Given the description of an element on the screen output the (x, y) to click on. 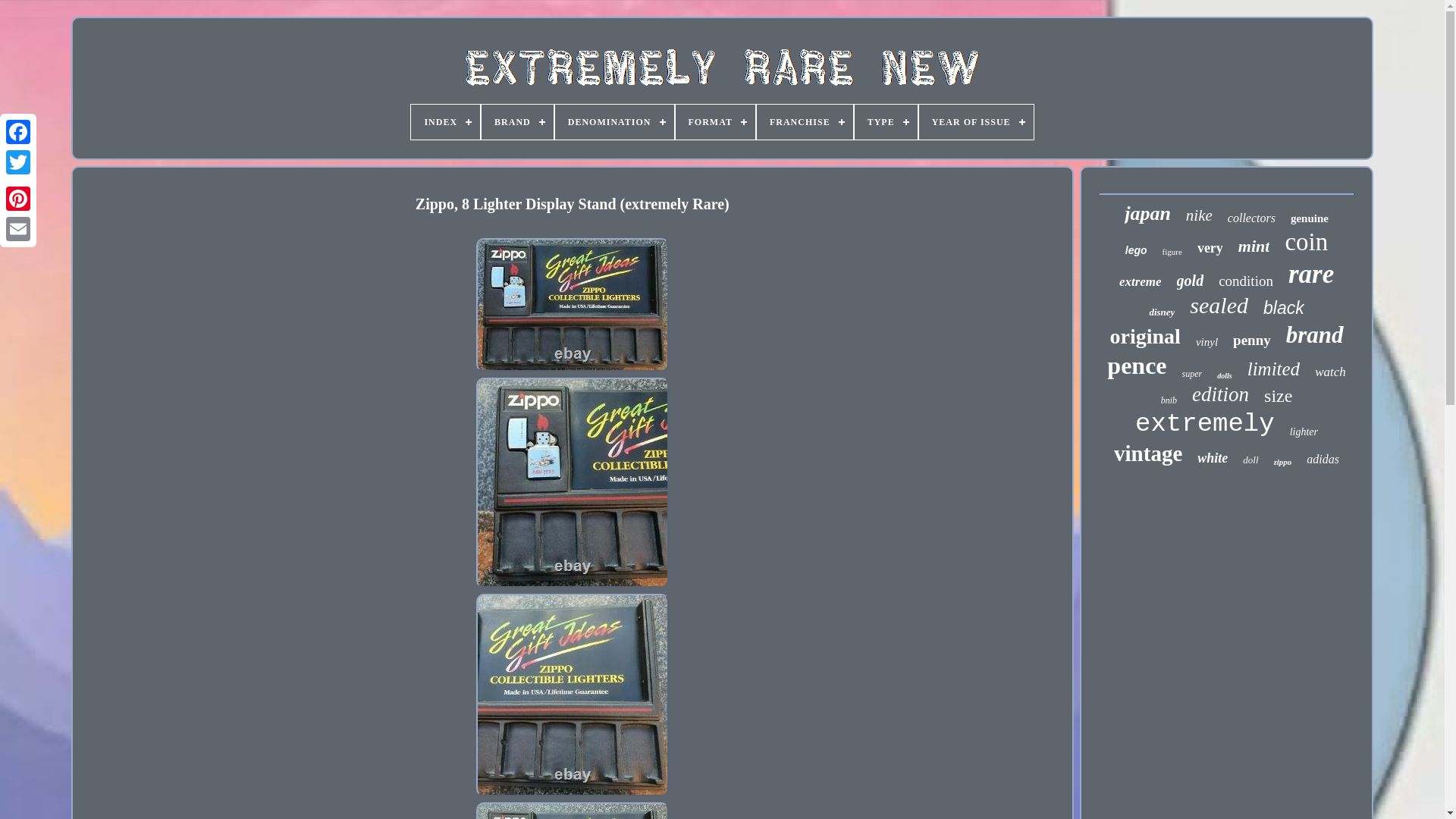
BRAND (517, 121)
DENOMINATION (614, 121)
INDEX (445, 121)
